Given the description of an element on the screen output the (x, y) to click on. 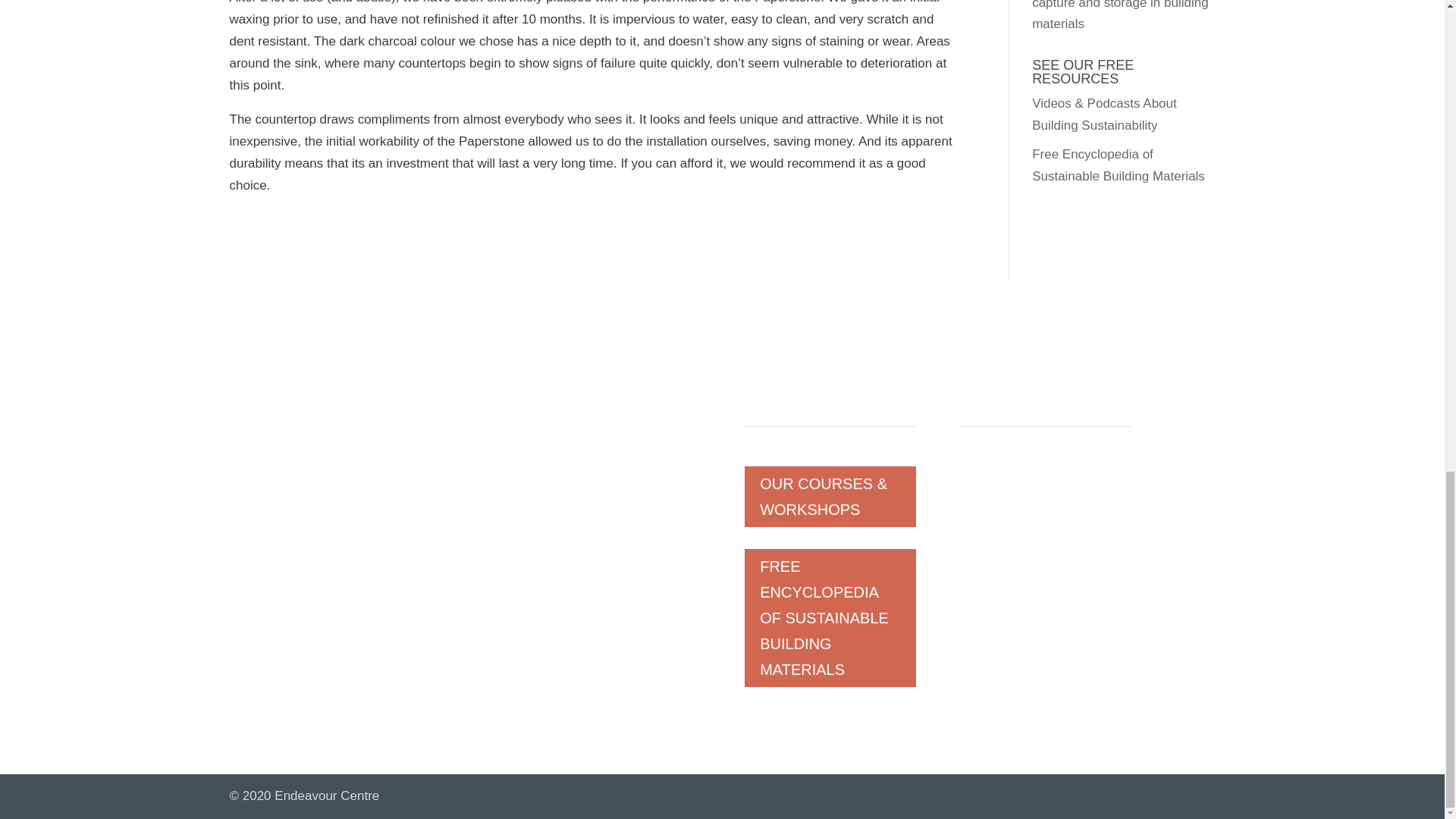
FREE ENCYCLOPEDIA OF SUSTAINABLE BUILDING MATERIALS (829, 617)
Follow on X (1063, 522)
Follow on Facebook (1002, 522)
Follow on LinkedIn (1033, 522)
Free Encyclopedia of Sustainable Building Materials (1118, 165)
Follow on Instagram (972, 522)
